Given the description of an element on the screen output the (x, y) to click on. 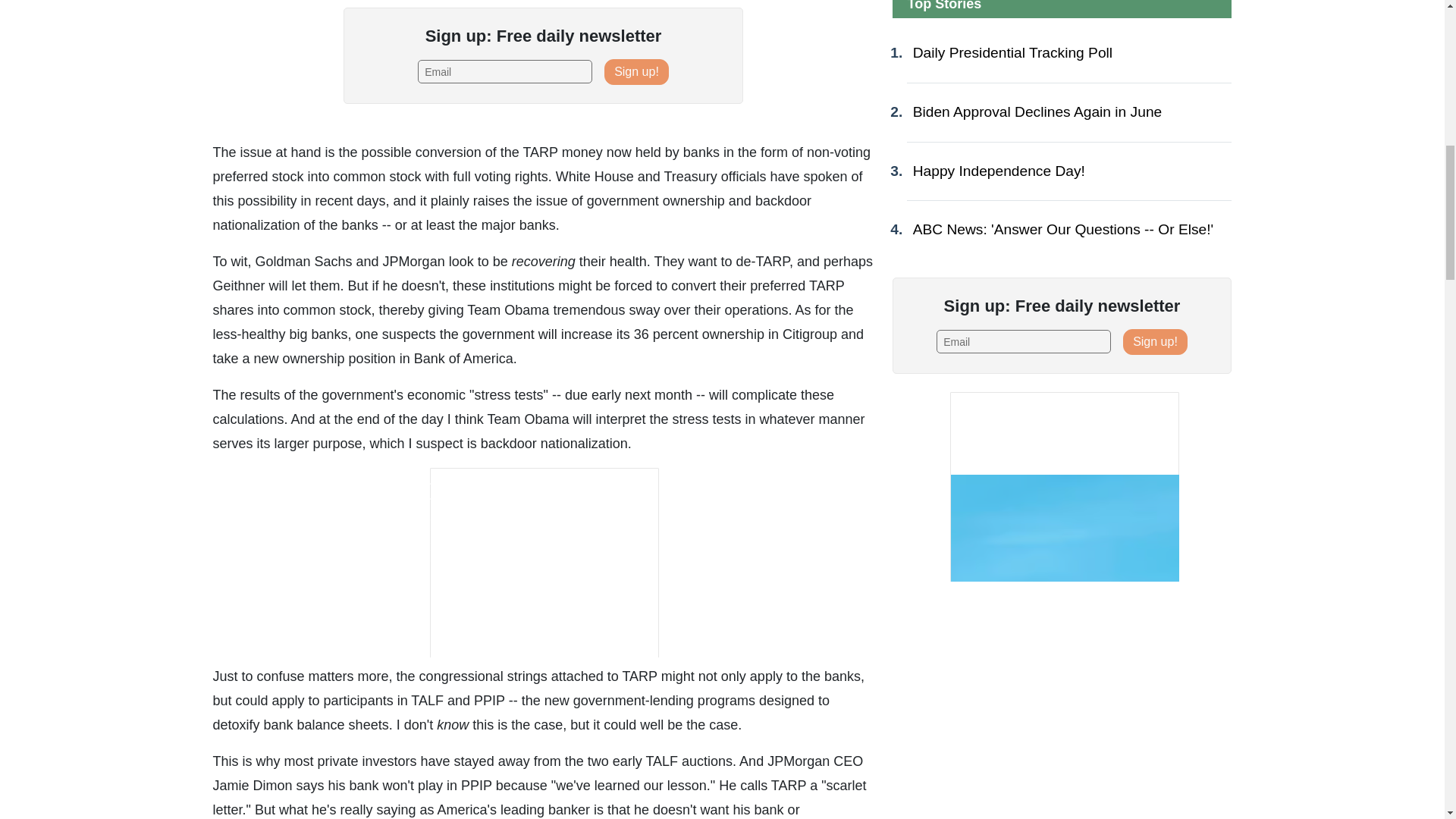
Sign up! (636, 71)
